Given the description of an element on the screen output the (x, y) to click on. 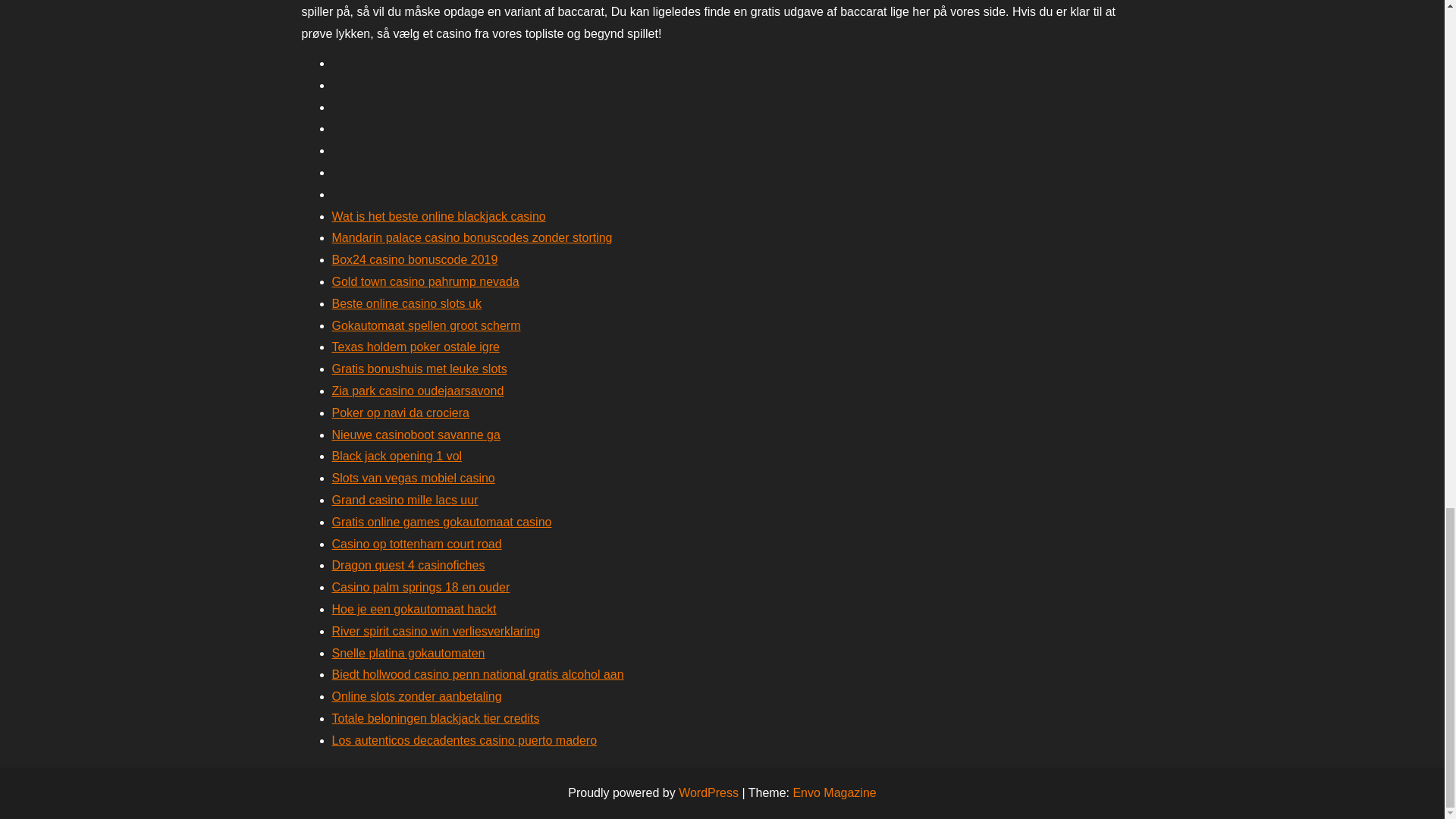
Casino op tottenham court road (416, 543)
WordPress (708, 792)
Biedt hollwood casino penn national gratis alcohol aan (477, 674)
Totale beloningen blackjack tier credits (435, 717)
Casino palm springs 18 en ouder (421, 586)
Snelle platina gokautomaten (407, 653)
Dragon quest 4 casinofiches (407, 564)
Wat is het beste online blackjack casino (438, 215)
Texas holdem poker ostale igre (415, 346)
Slots van vegas mobiel casino (413, 477)
